Given the description of an element on the screen output the (x, y) to click on. 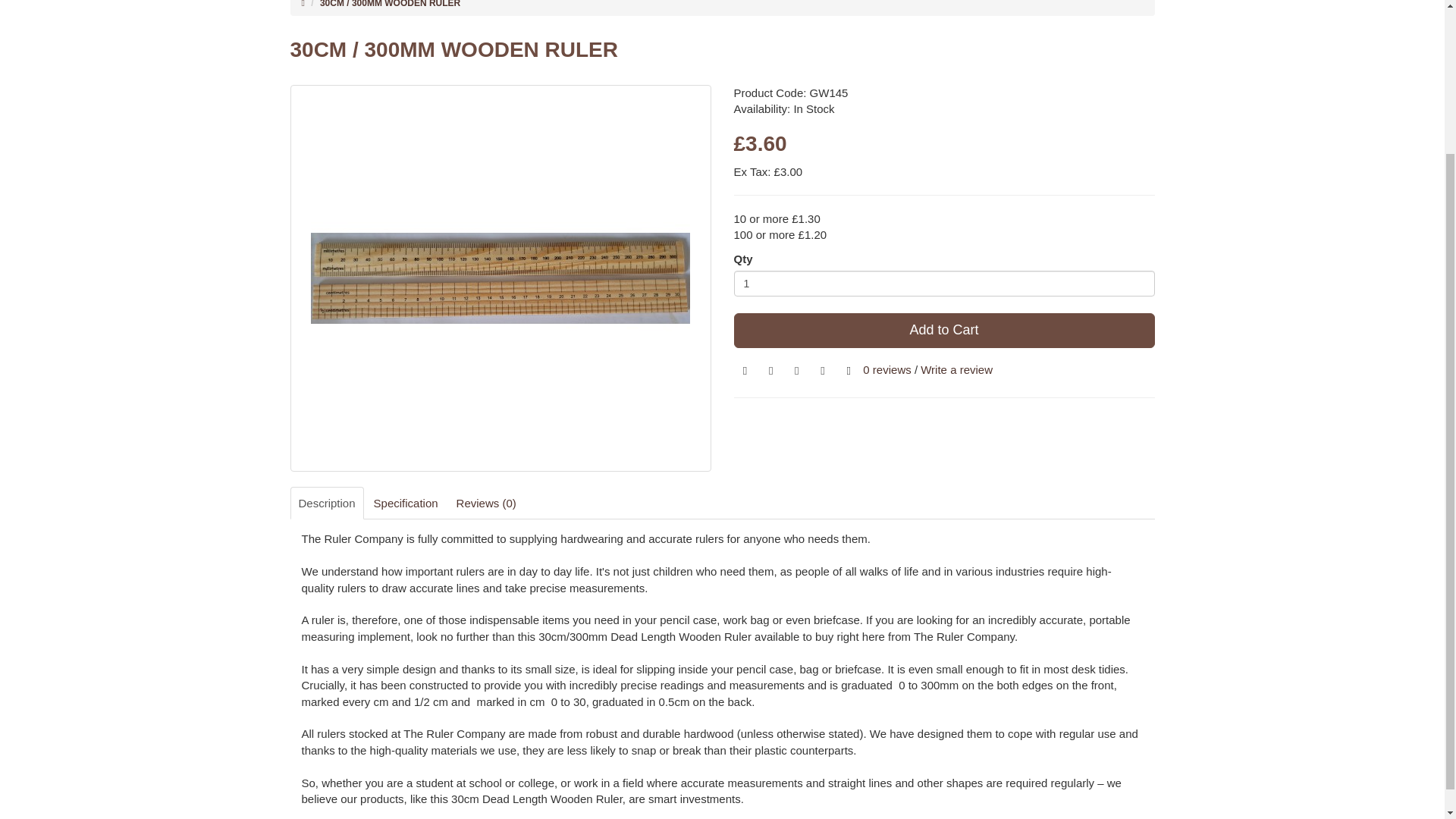
0 reviews (887, 369)
Specification (405, 502)
1 (943, 283)
Description (325, 502)
Write a review (956, 369)
Add to Cart (943, 330)
